Given the description of an element on the screen output the (x, y) to click on. 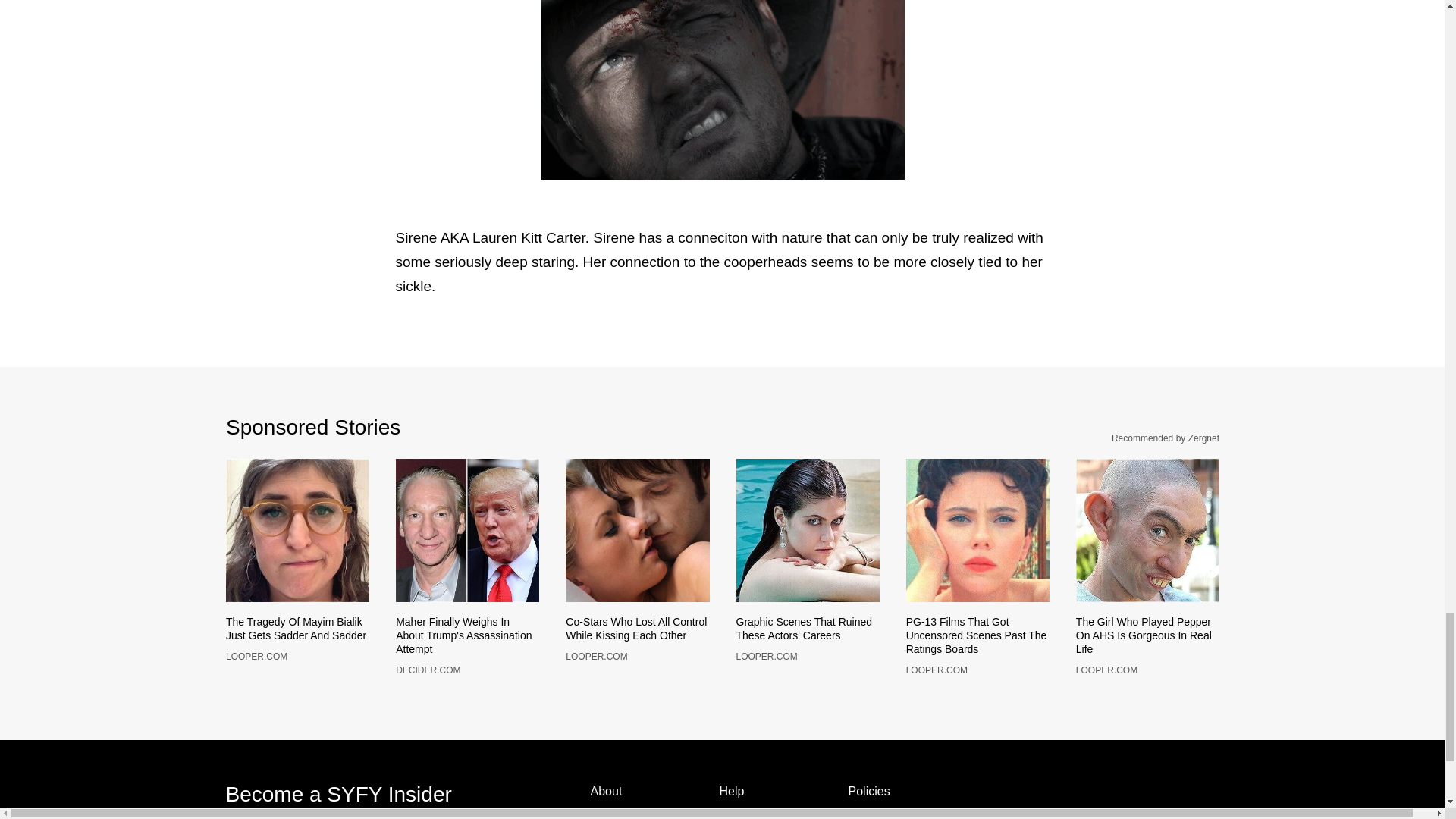
Graphic Scenes That Ruined These Actors' CareersLOOPER.COM (807, 638)
